Given the description of an element on the screen output the (x, y) to click on. 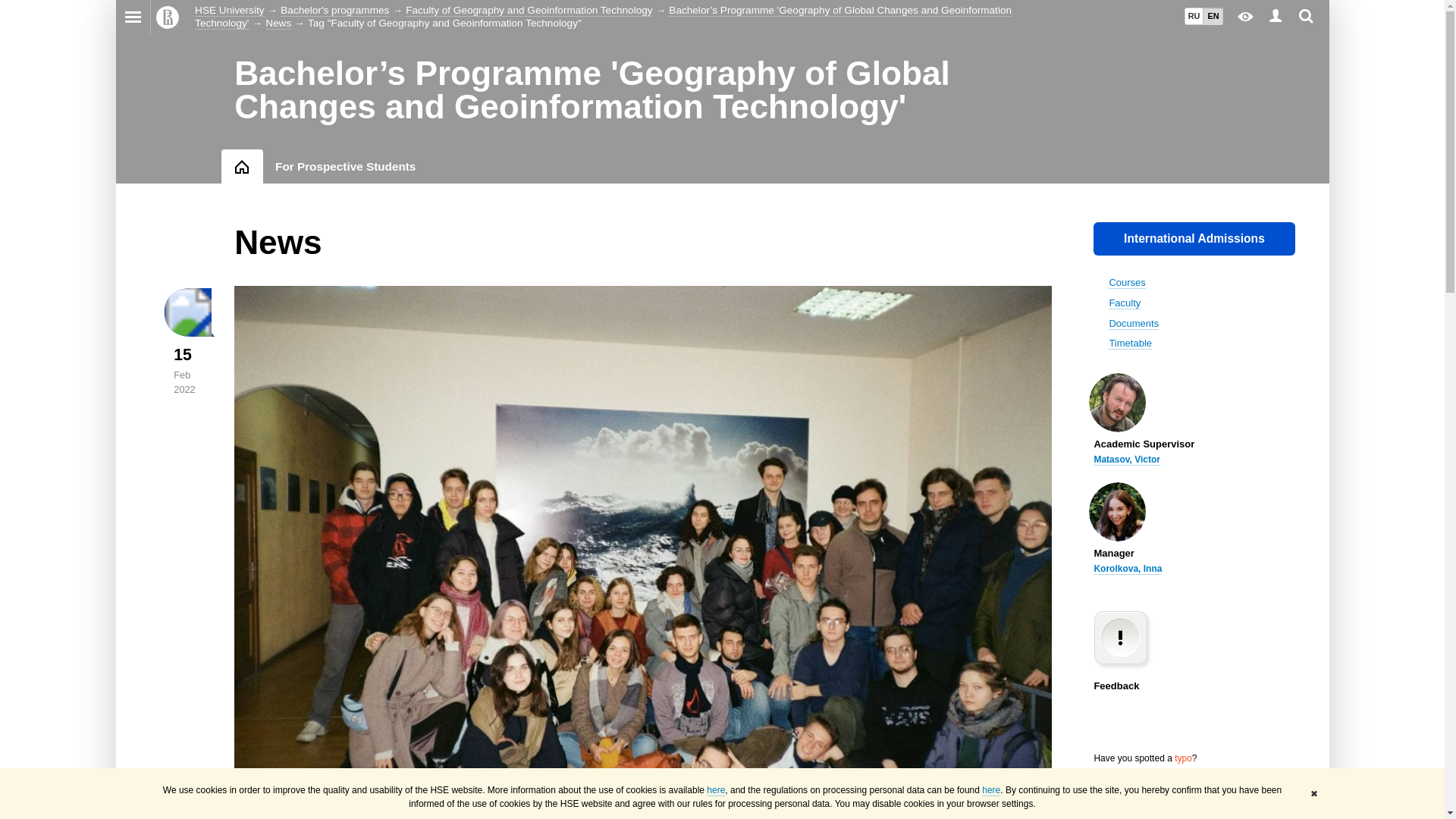
Timetable (1129, 343)
News (277, 22)
RU (1194, 16)
Faculty of Geography and Geoinformation Technology (529, 10)
Korolkova, Inna (1127, 568)
Courses (1126, 282)
Documents (1133, 323)
here (990, 790)
Matasov, Victor (1126, 460)
here (715, 790)
